Given the description of an element on the screen output the (x, y) to click on. 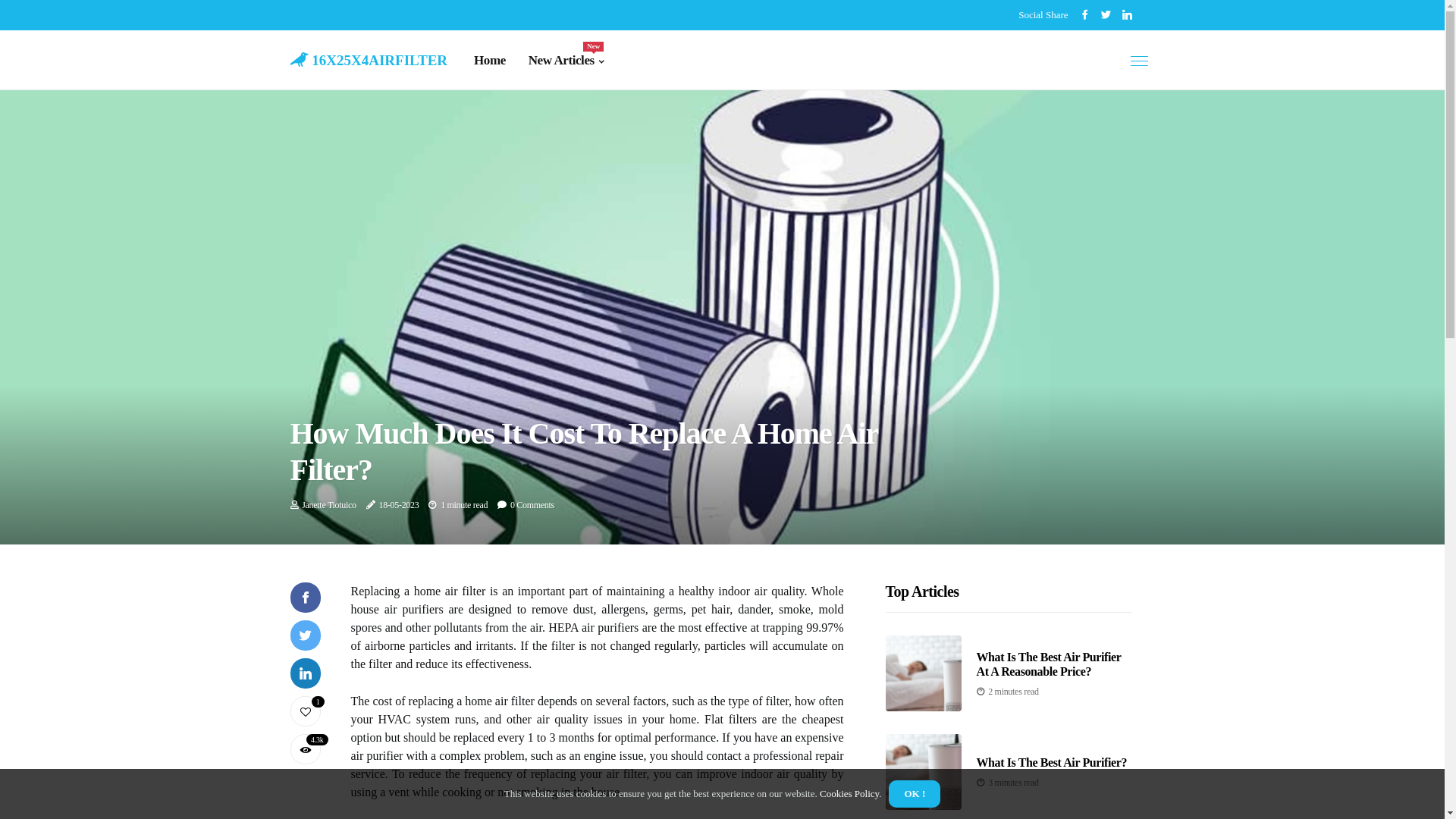
0 Comments Element type: text (532, 504)
Janette Tiotuico Element type: text (328, 504)
New Articles
New Element type: text (566, 60)
Cookies Policy Element type: text (848, 793)
What Is The Best Air Purifier? Element type: text (1051, 762)
16x25x4airfilter Element type: text (368, 57)
What Is The Best Air Purifier At A Reasonable Price? Element type: text (1048, 663)
Home Element type: text (489, 60)
1 Element type: text (304, 711)
